Given the description of an element on the screen output the (x, y) to click on. 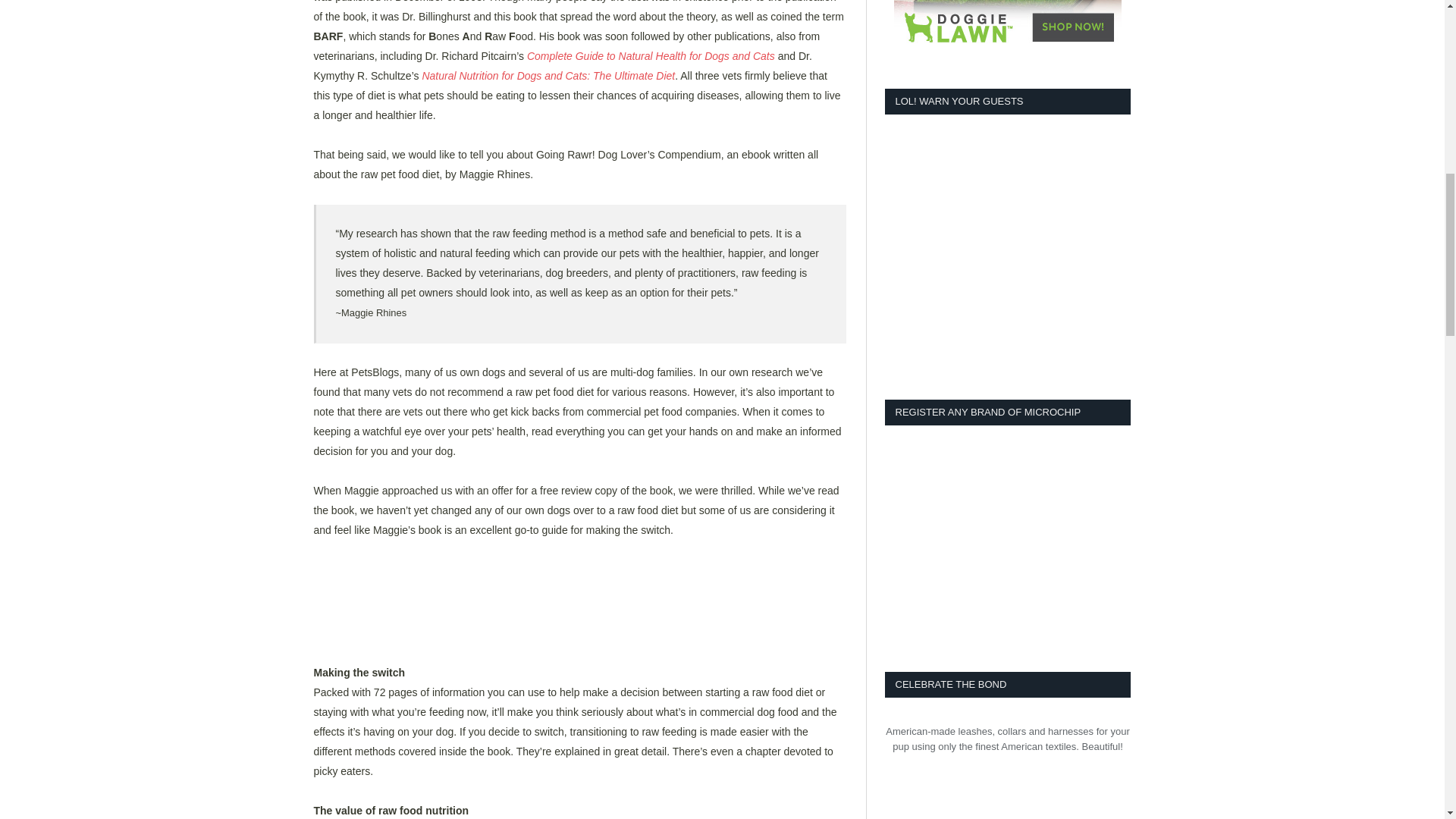
Complete Guide to Natural Health for Dogs and Cats (650, 55)
Natural Nutrition for Dogs and Cats: The Ultimate Diet (548, 75)
